Given the description of an element on the screen output the (x, y) to click on. 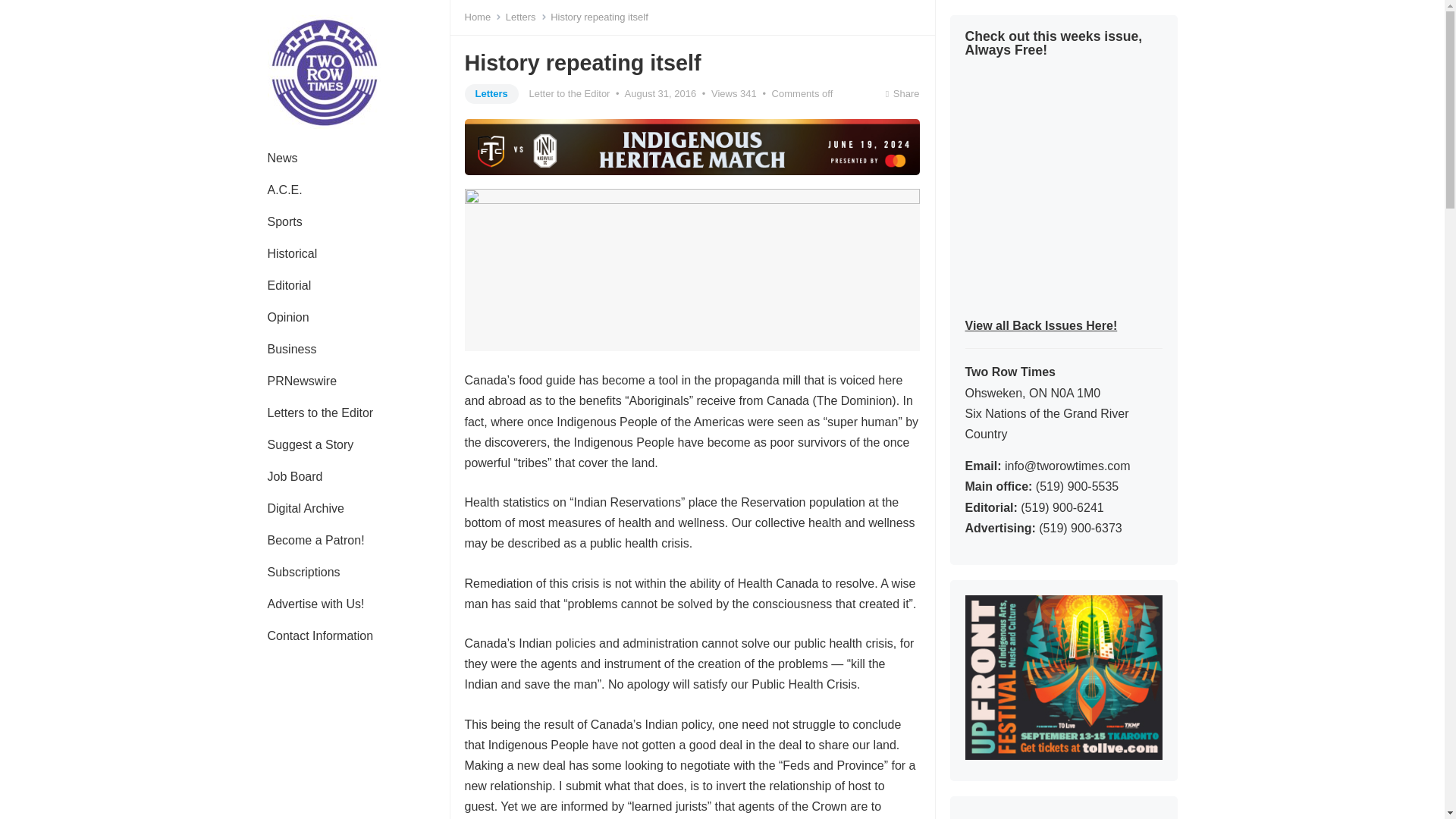
Letters to the Editor (319, 413)
Home (482, 16)
Digital Archive (304, 508)
Become a Patron! (314, 540)
Contact Information (319, 635)
PRNewswire (301, 381)
Sports (284, 222)
Subscriptions (303, 572)
Business (291, 349)
A.C.E. (284, 190)
Editorial (288, 286)
Suggest a Story (309, 445)
Historical (291, 254)
Advertise with Us! (314, 603)
Job Board (294, 477)
